Given the description of an element on the screen output the (x, y) to click on. 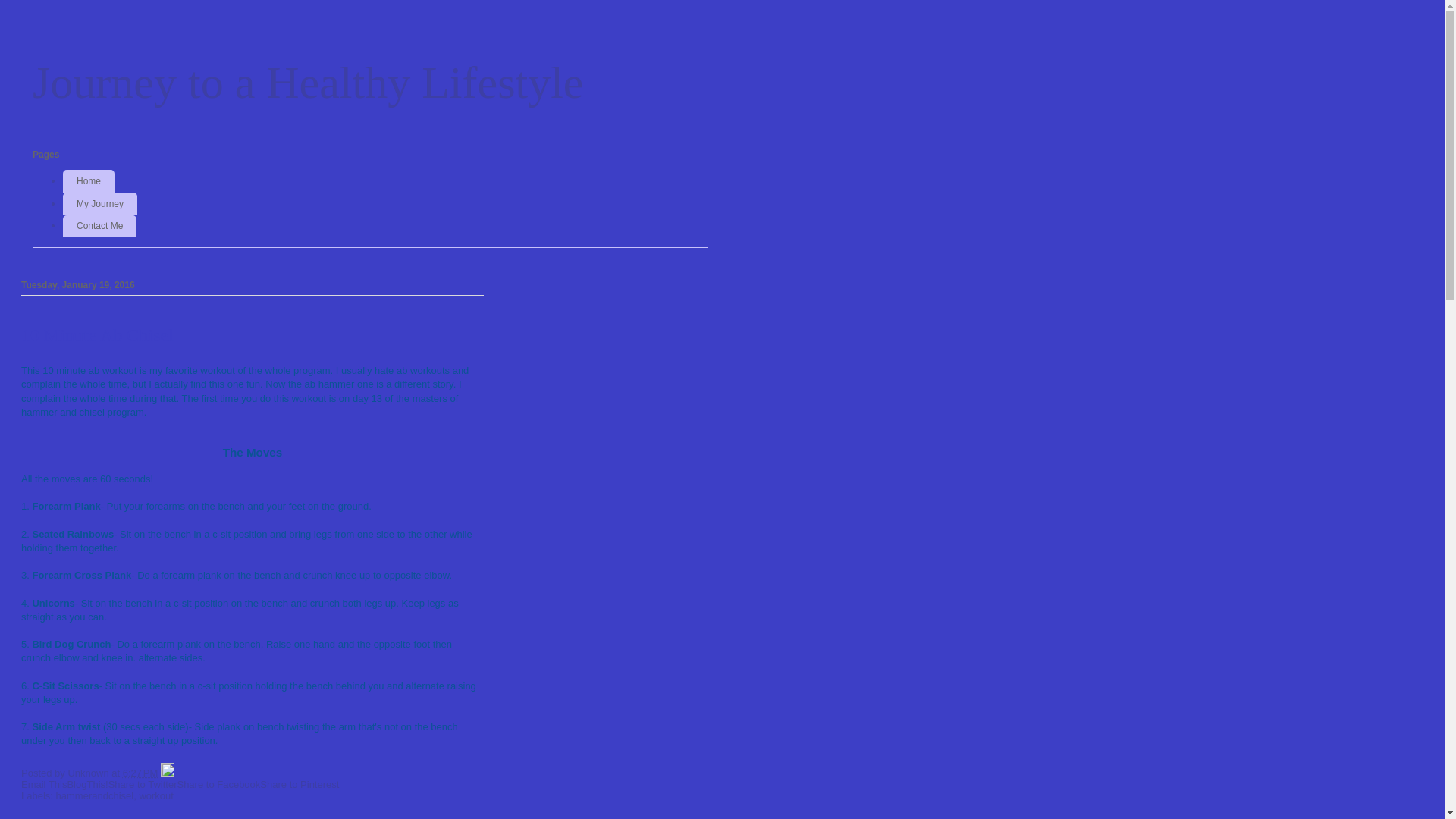
Share to Pinterest Element type: text (299, 784)
workout Element type: text (155, 795)
Journey to a Healthy Lifestyle Element type: text (307, 82)
Contact Me Element type: text (99, 226)
Email This Element type: text (43, 784)
My Journey Element type: text (99, 203)
hammerandchisel Element type: text (95, 795)
Home Element type: text (88, 180)
Share to Twitter Element type: text (142, 784)
Share to Facebook Element type: text (218, 784)
BlogThis! Element type: text (86, 784)
Edit Post Element type: hover (167, 772)
Unknown Element type: text (89, 772)
